Given the description of an element on the screen output the (x, y) to click on. 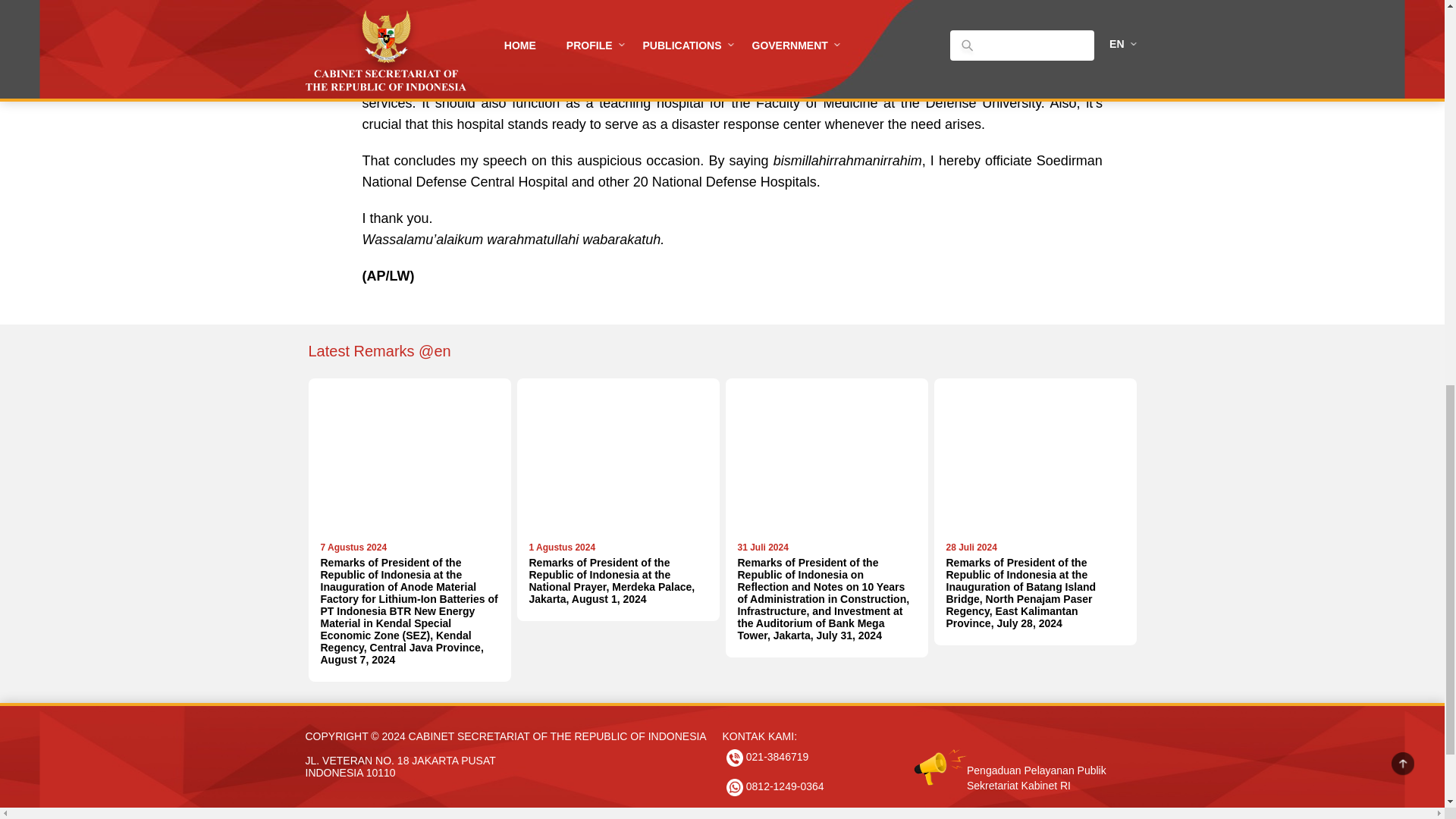
0812-1249-0364 (775, 788)
021-3846719 (767, 758)
Pengaduan Pelayanan Publik Sekretariat Kabinet RI (1014, 757)
Permohonan Informasi Publik Sekretariat Kabinet RI (1014, 814)
